Given the description of an element on the screen output the (x, y) to click on. 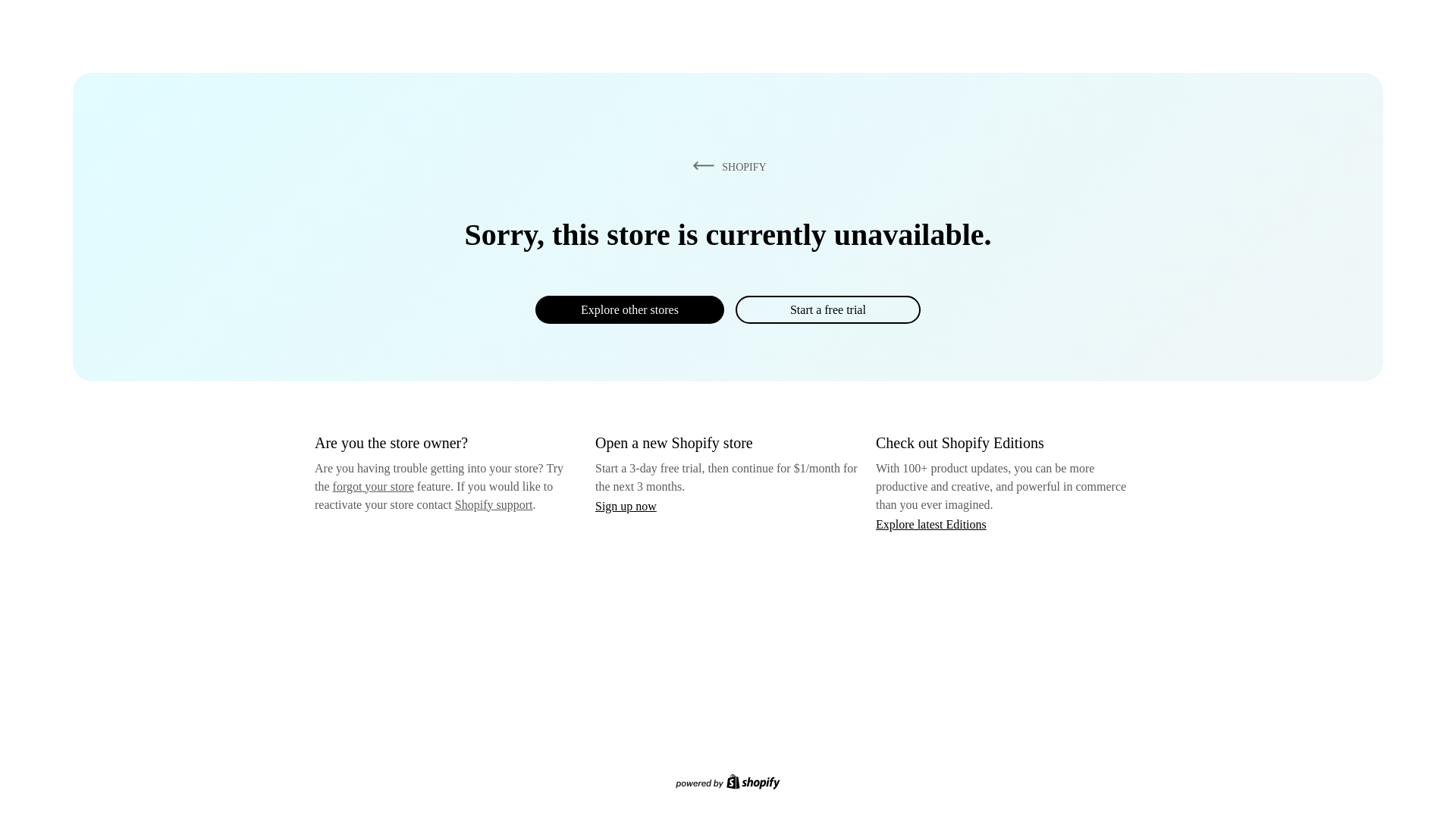
Explore latest Editions (931, 523)
SHOPIFY (726, 166)
Sign up now (625, 505)
Explore other stores (629, 309)
Start a free trial (827, 309)
Shopify support (493, 504)
forgot your store (373, 486)
